Given the description of an element on the screen output the (x, y) to click on. 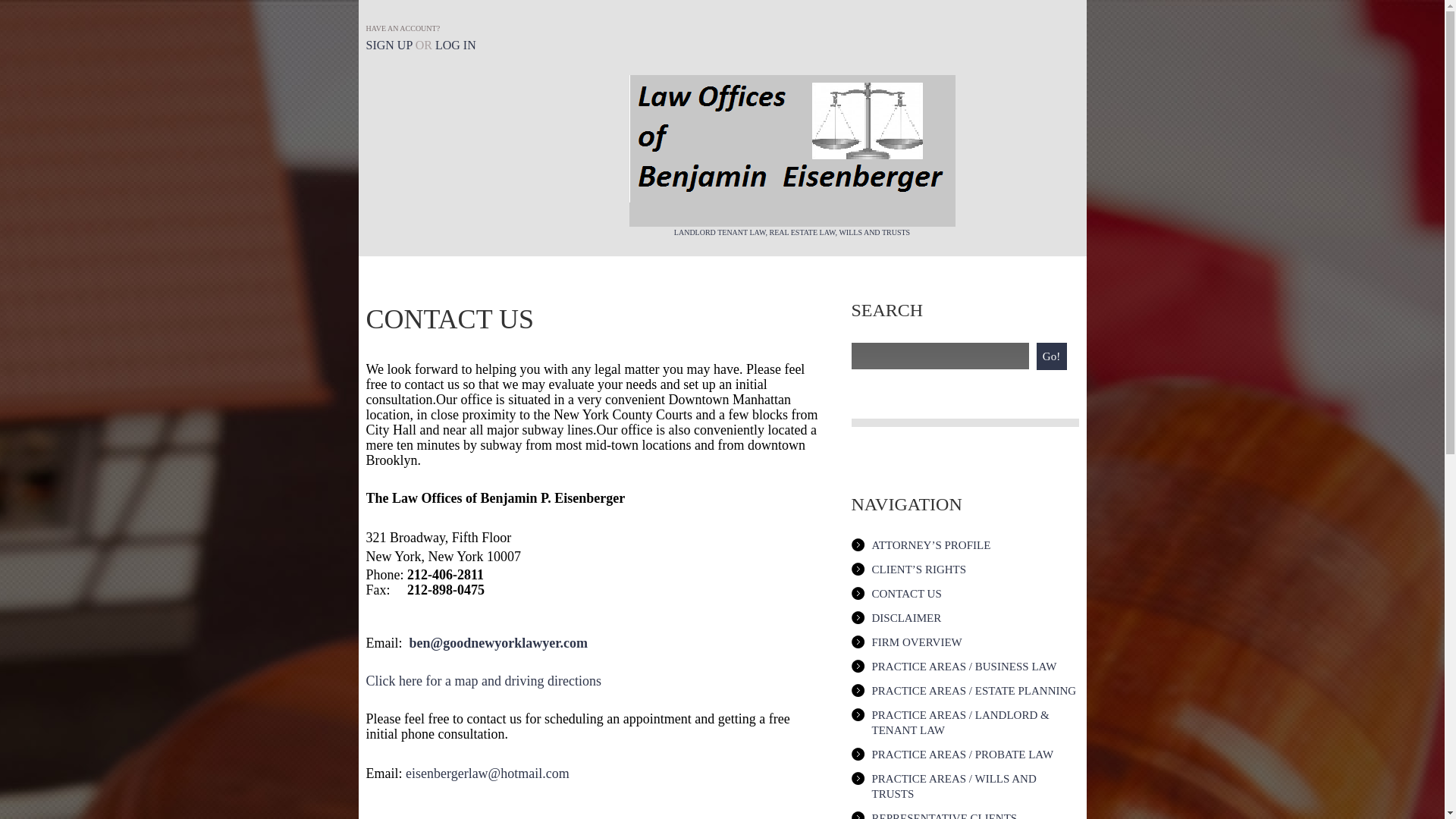
Click here for a map and driving directions (482, 680)
LOG IN (455, 44)
Click here for a map and driving directions (482, 680)
SIGN UP (388, 44)
